Given the description of an element on the screen output the (x, y) to click on. 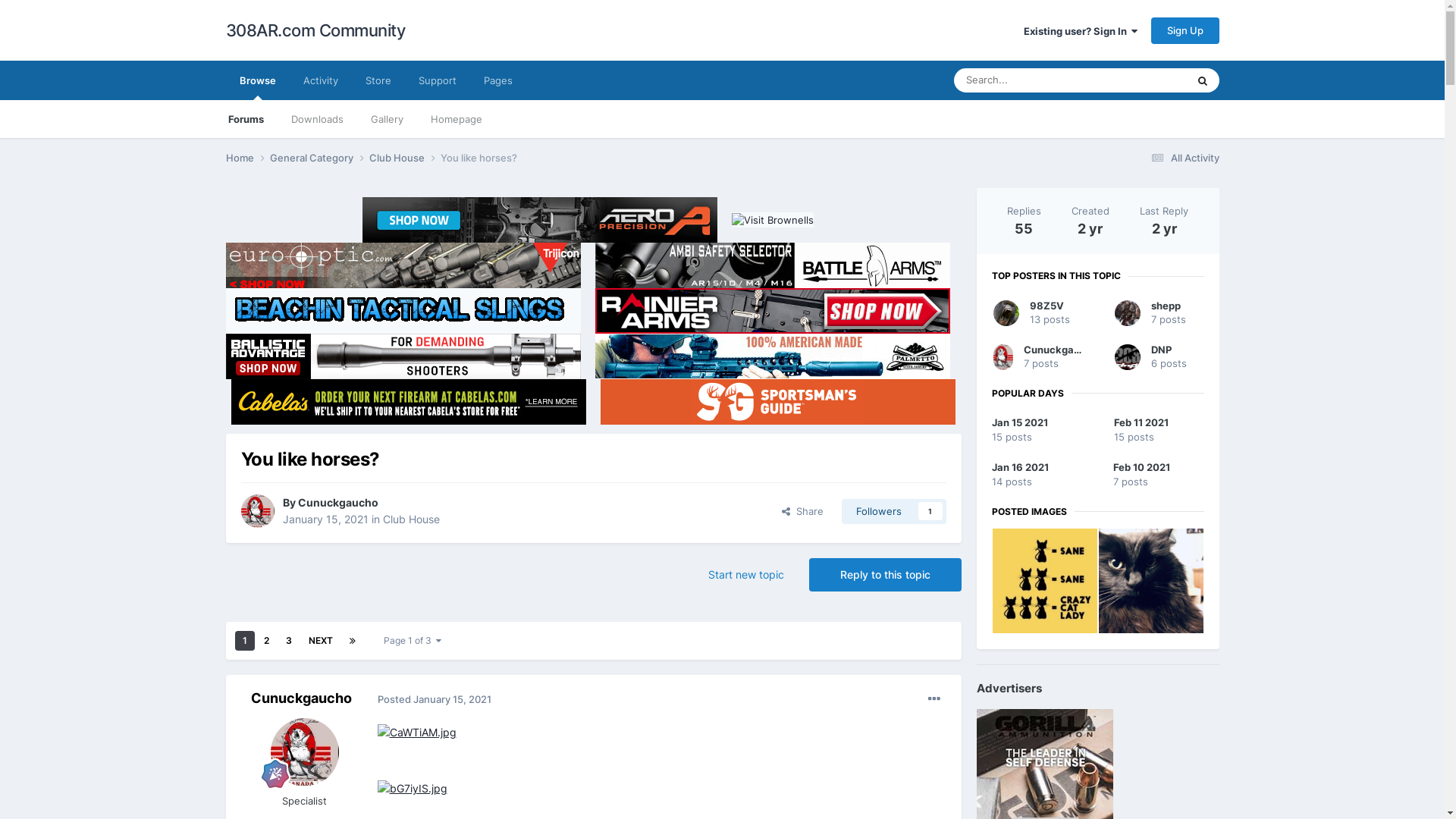
All Activity Element type: text (1182, 157)
Home Element type: text (247, 158)
Rank: Mentor (12/14) Element type: hover (274, 773)
Pages Element type: text (498, 80)
NEXT Element type: text (319, 640)
Cunuckgaucho Element type: text (337, 501)
Feb 11 2021
15 posts Element type: text (1158, 430)
Followers
1 Element type: text (893, 510)
Go to Cunuckgaucho's profile Element type: hover (1003, 357)
Go to 98Z5V's profile Element type: hover (1006, 313)
Cunuckgaucho Element type: text (1060, 349)
Posted January 15, 2021 Element type: text (434, 699)
Last page Element type: hover (351, 640)
98Z5V Element type: text (1046, 305)
 Share Element type: text (801, 510)
Activity Element type: text (320, 80)
Go to shepp's profile Element type: hover (1127, 313)
Existing user? Sign In   Element type: text (1080, 31)
3 Element type: text (287, 640)
Forums Element type: text (244, 119)
Homepage Element type: text (456, 119)
Page 1 of 3   Element type: text (412, 640)
Feb 10 2021
7 posts Element type: text (1158, 474)
General Category Element type: text (319, 158)
Store Element type: text (377, 80)
Jan 15 2021
15 posts Element type: text (1037, 430)
Browse Element type: text (257, 80)
Reply to this topic Element type: text (884, 574)
Go to Cunuckgaucho's profile Element type: hover (303, 752)
More options... Element type: hover (934, 699)
Sign Up Element type: text (1185, 29)
Jan 16 2021
14 posts Element type: text (1036, 474)
Go to Cunuckgaucho's profile Element type: hover (257, 510)
1 Element type: text (244, 640)
shepp Element type: text (1165, 305)
Enlarge image Element type: hover (416, 730)
DNP Element type: text (1161, 349)
Start new topic Element type: text (745, 574)
Go to DNP's profile Element type: hover (1127, 357)
Gallery Element type: text (386, 119)
Downloads Element type: text (317, 119)
Support Element type: text (437, 80)
2 Element type: text (266, 640)
Club House Element type: text (403, 158)
Club House Element type: text (410, 518)
Enlarge image Element type: hover (412, 787)
Cunuckgaucho Element type: text (301, 698)
308AR.com Community Element type: text (315, 30)
